Given the description of an element on the screen output the (x, y) to click on. 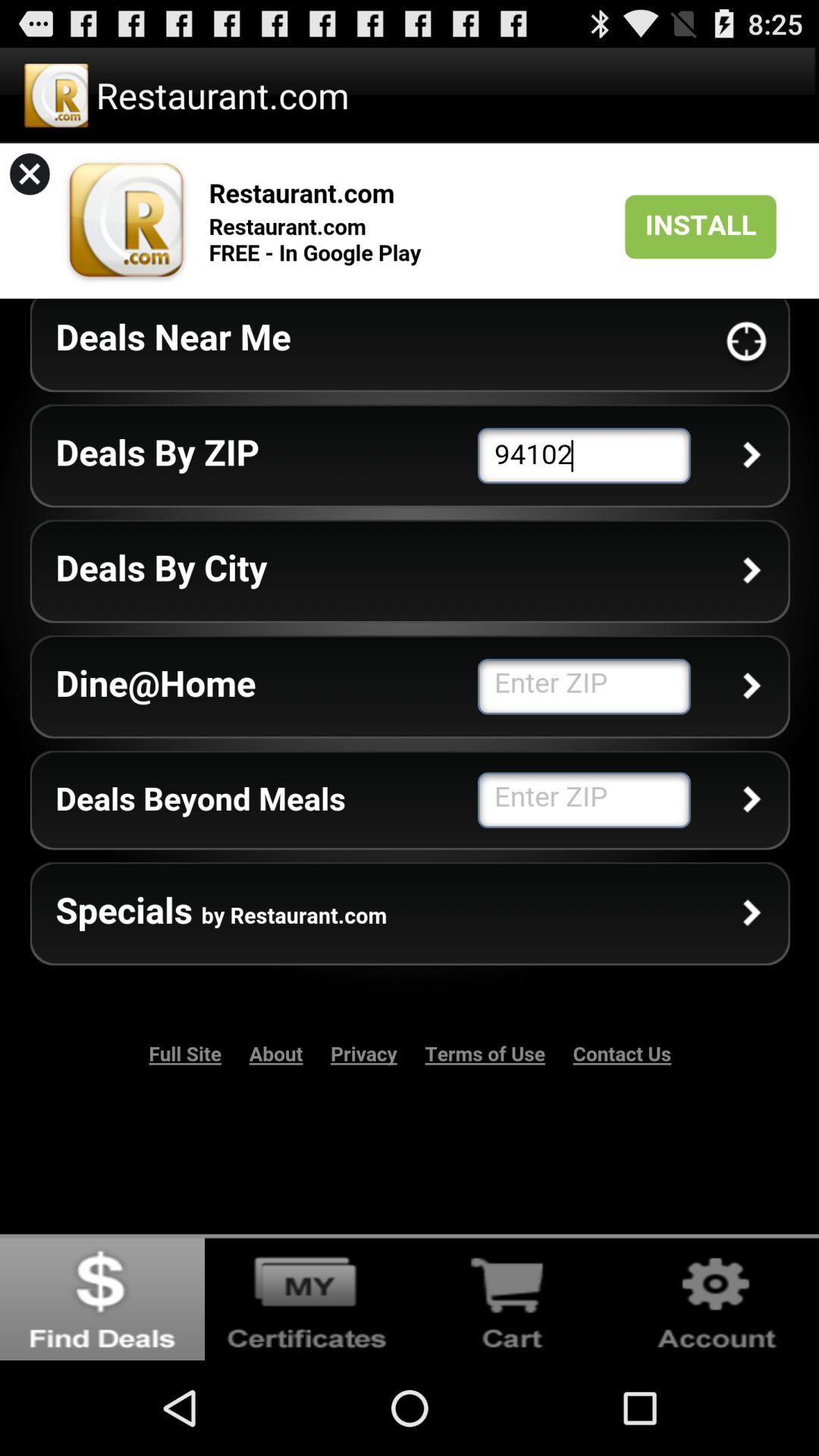
find deals (102, 1297)
